Given the description of an element on the screen output the (x, y) to click on. 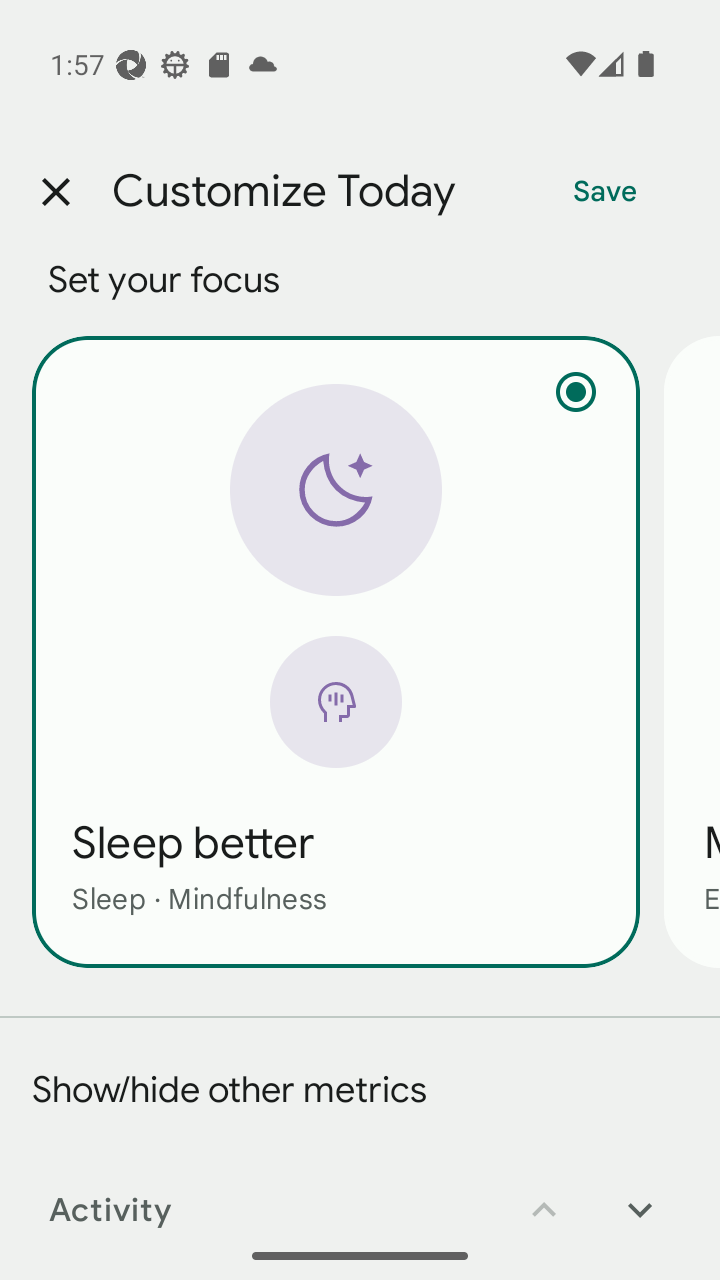
Close (55, 191)
Save (605, 191)
Sleep better Sleep · Mindfulness (335, 651)
Move Activity up (543, 1196)
Move Activity down (639, 1196)
